Given the description of an element on the screen output the (x, y) to click on. 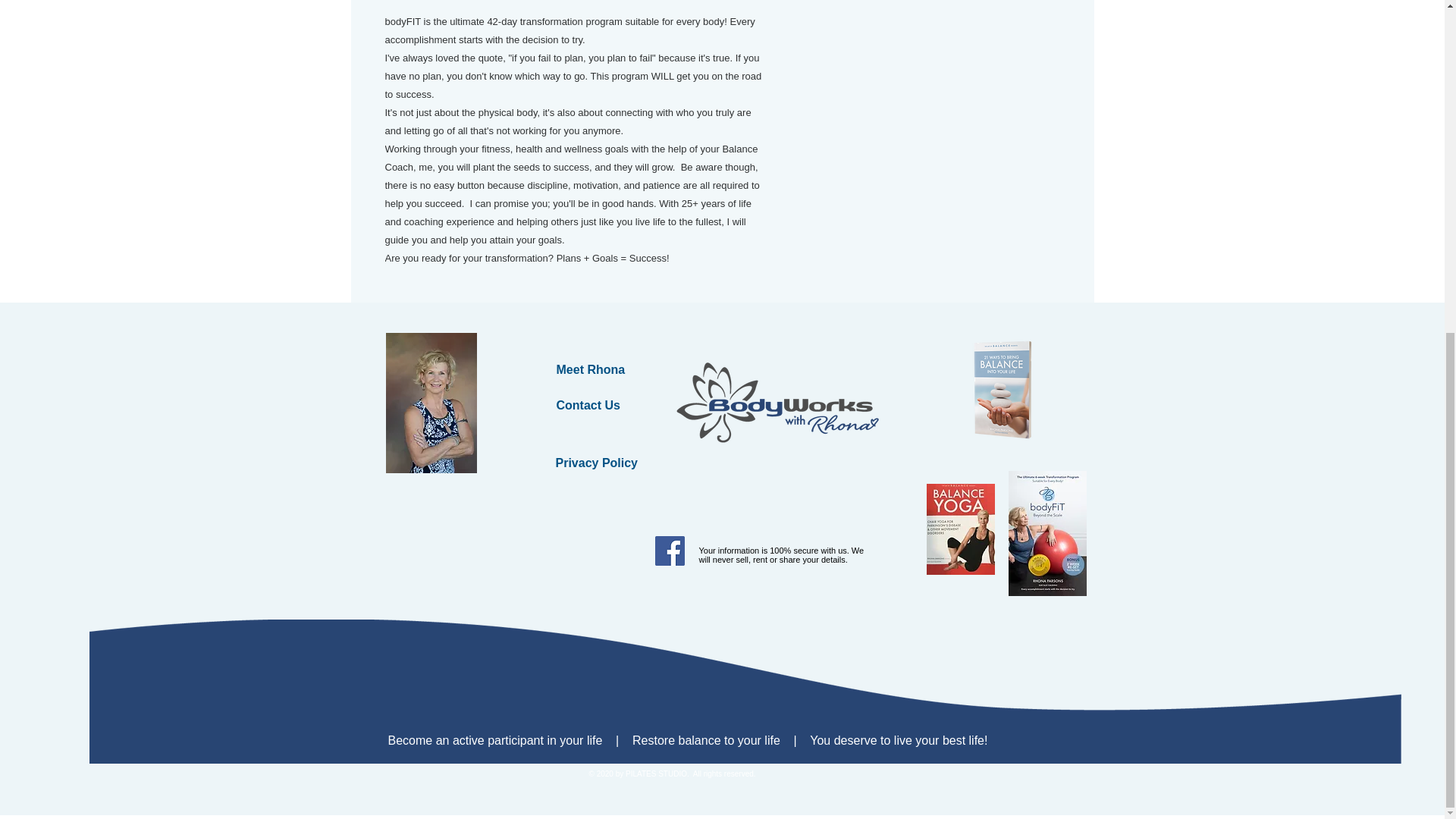
Meet Rhona (591, 369)
Contact Us (588, 404)
Privacy Policy (595, 462)
